Given the description of an element on the screen output the (x, y) to click on. 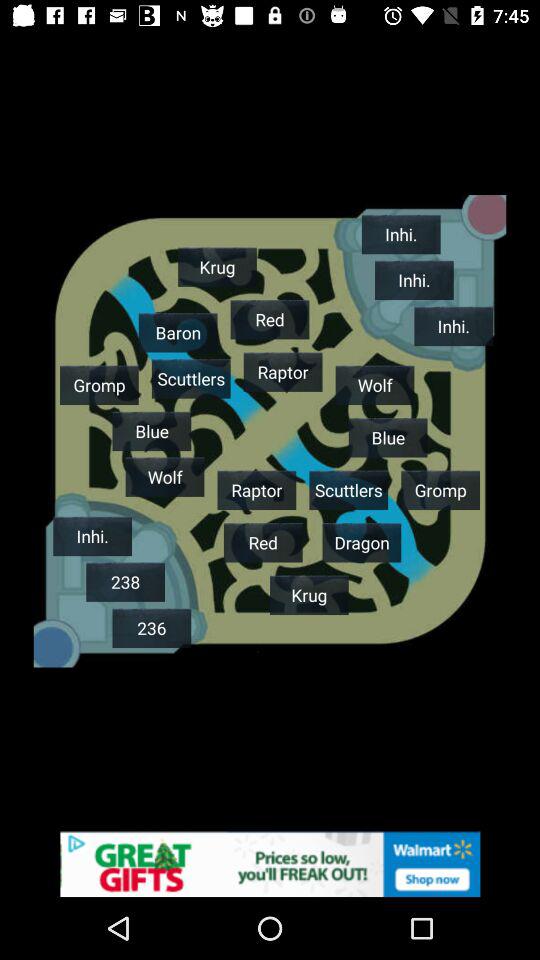
go to advertising site (270, 864)
